Given the description of an element on the screen output the (x, y) to click on. 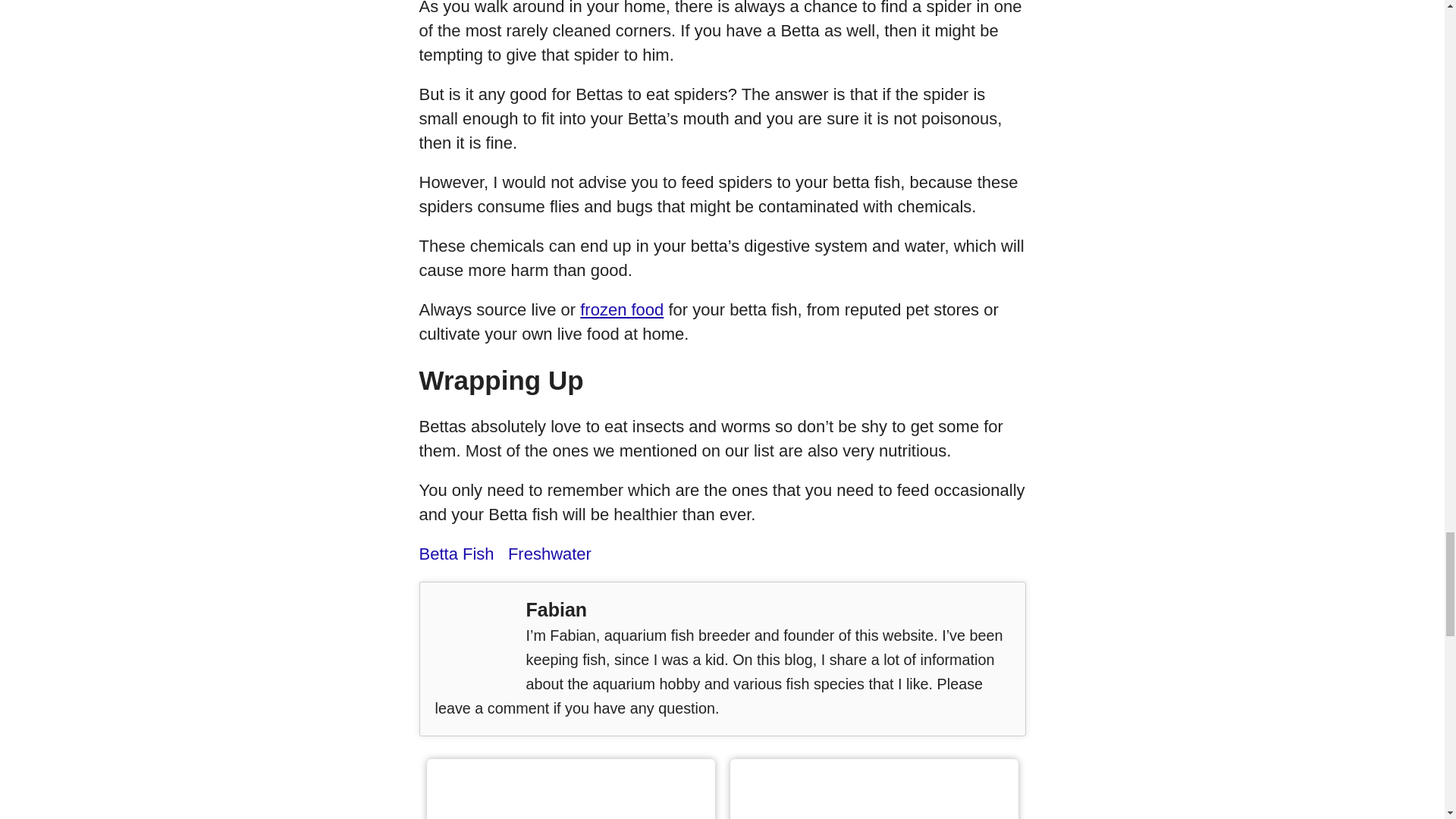
Betta Fish (456, 553)
Freshwater (549, 553)
frozen food (621, 309)
